Given the description of an element on the screen output the (x, y) to click on. 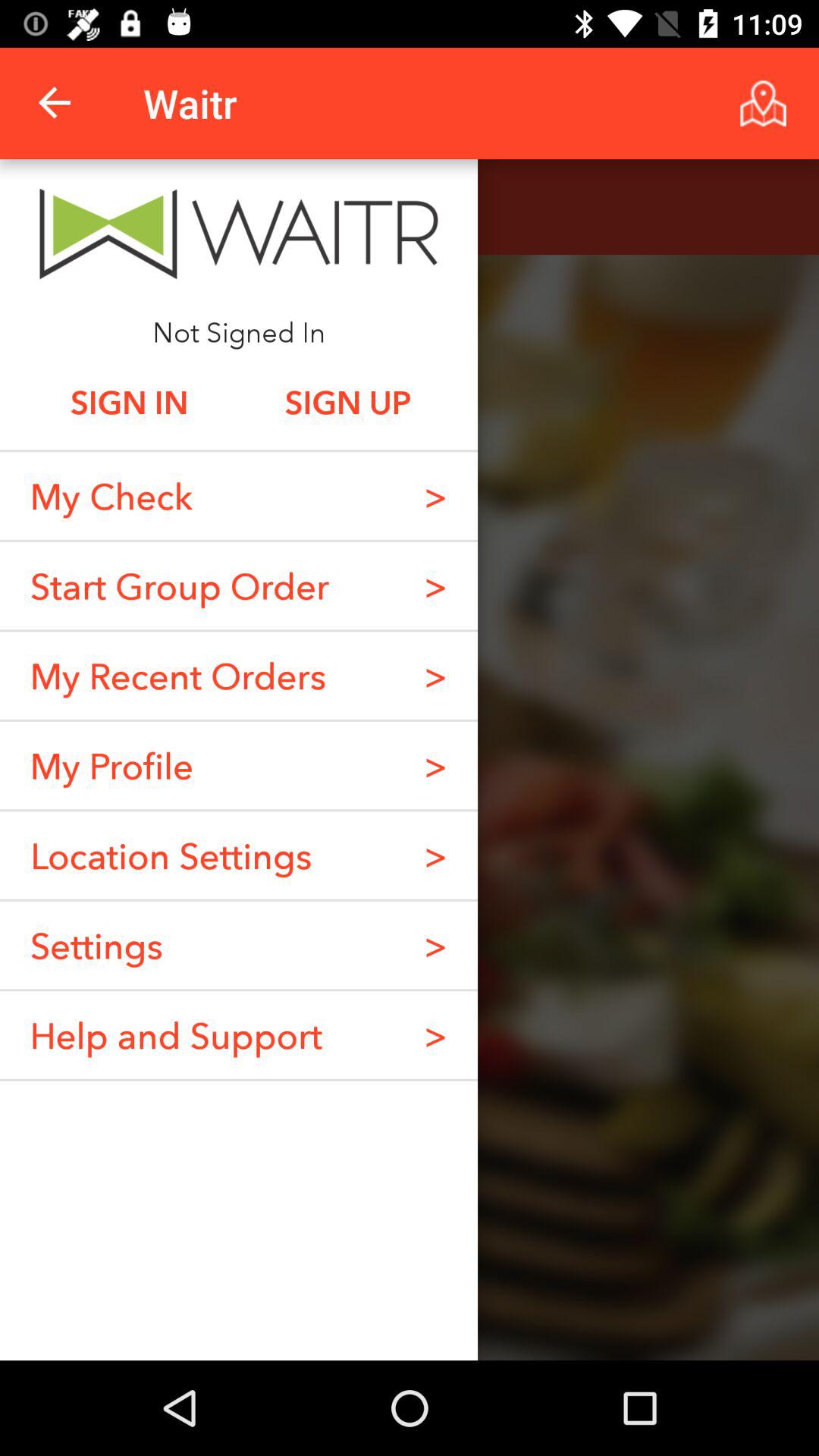
turn off the icon to the right of my recent orders item (435, 765)
